Given the description of an element on the screen output the (x, y) to click on. 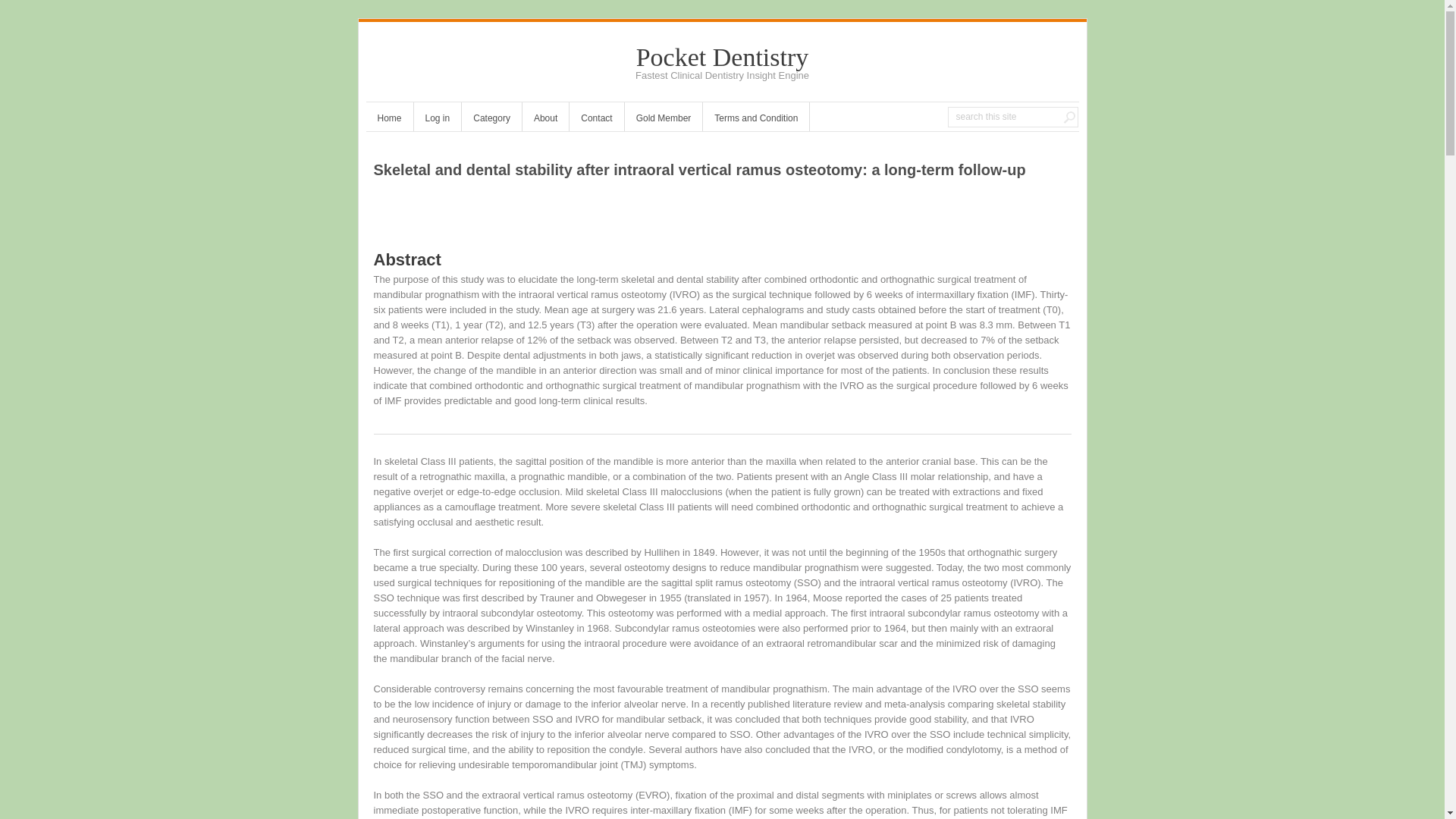
Pocket Dentistry (722, 57)
Log in (437, 119)
Gold Member (663, 119)
About (545, 119)
Terms and Condition (756, 119)
Pocket Dentistry (722, 57)
Category (491, 119)
Home (388, 119)
Contact (596, 119)
